Given the description of an element on the screen output the (x, y) to click on. 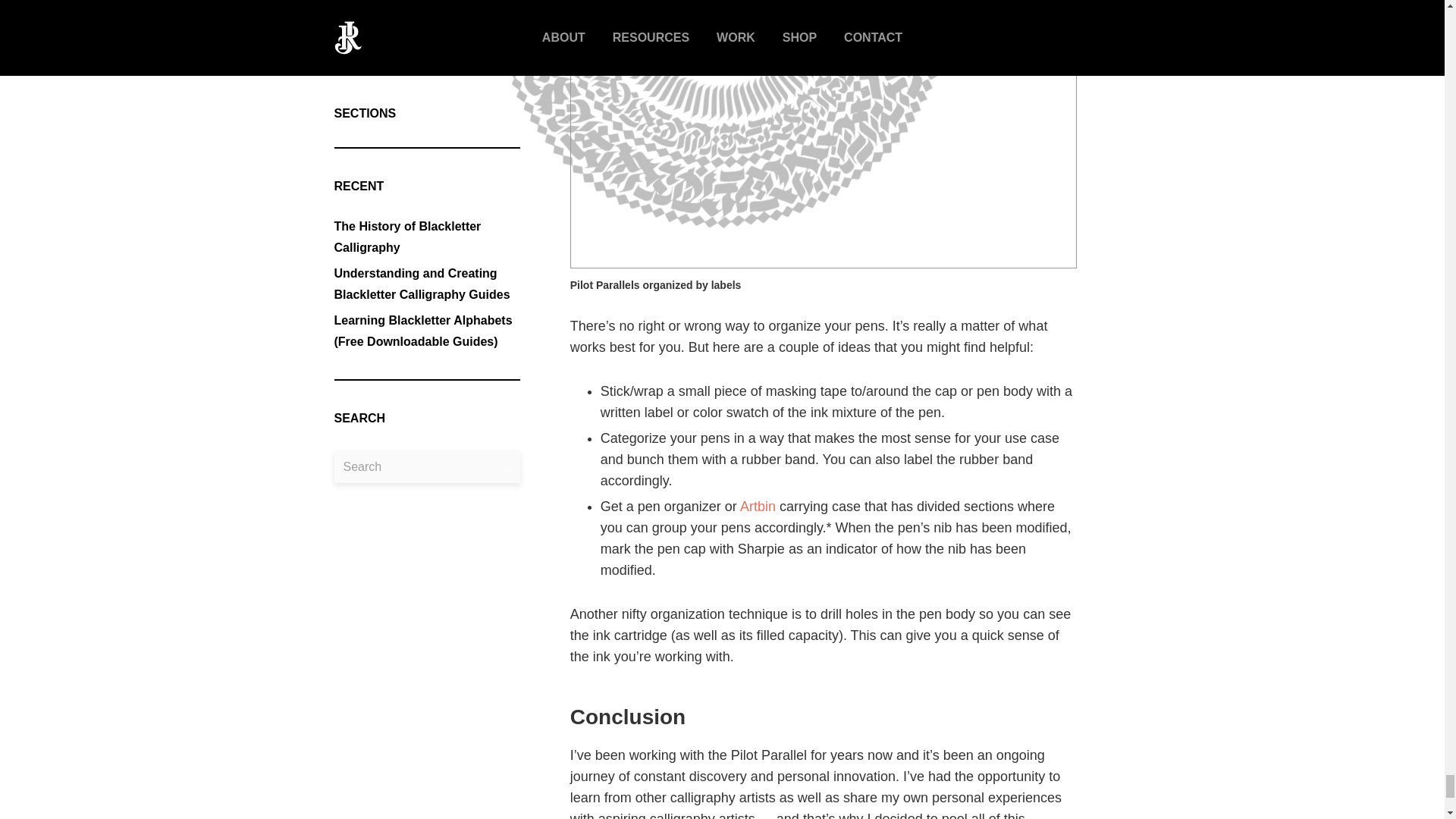
Artbin (757, 506)
